Given the description of an element on the screen output the (x, y) to click on. 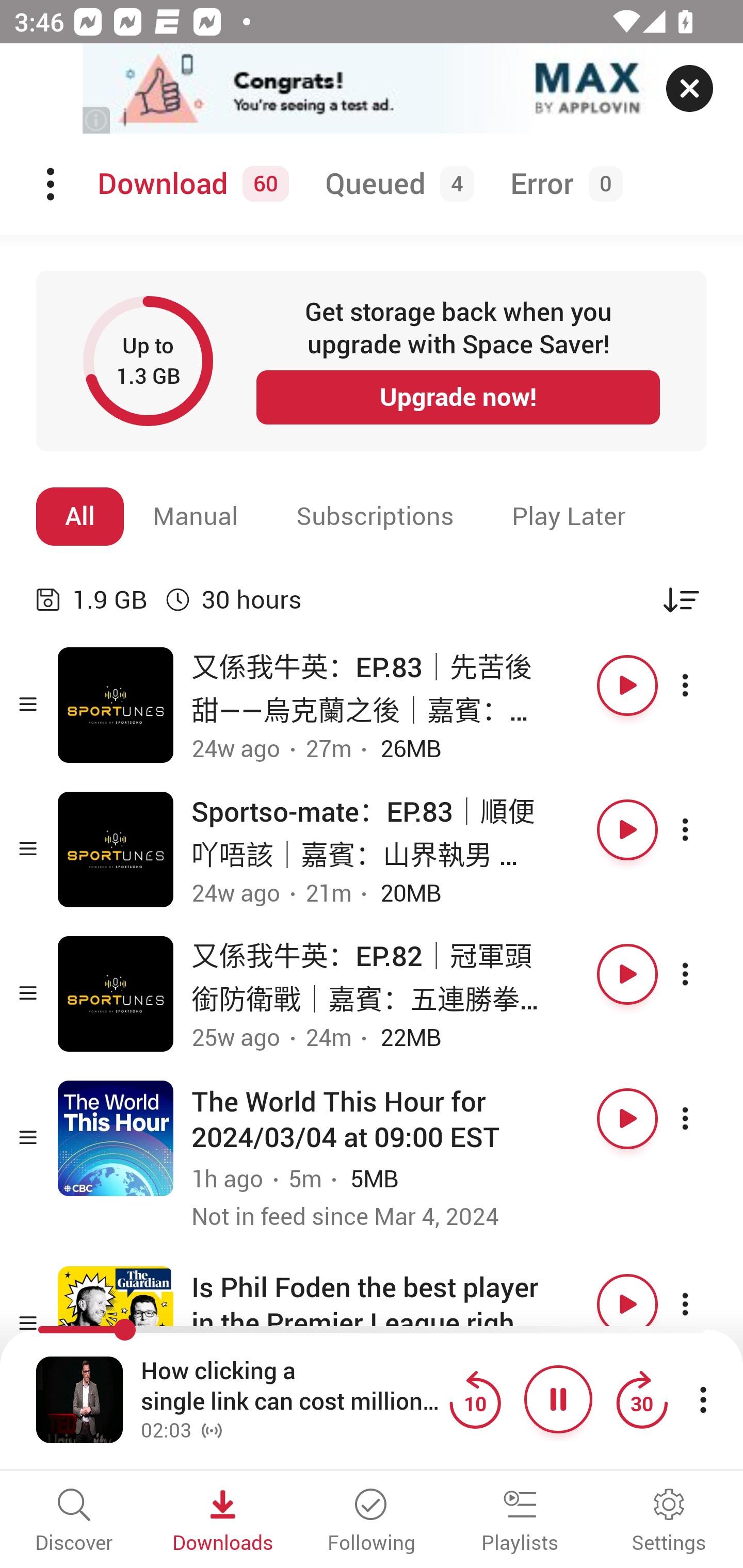
app-monetization (371, 88)
(i) (96, 119)
Menu (52, 184)
 Download 60 (189, 184)
 Queued 4 (396, 184)
 Error 0 (562, 184)
All (80, 516)
Manual (195, 516)
Subscriptions (374, 516)
Play Later (568, 516)
Change sort order (681, 599)
Play button (627, 685)
More options (703, 685)
Open series Sportunes HK (115, 705)
Play button (627, 830)
More options (703, 830)
Open series Sportunes HK (115, 849)
Play button (627, 974)
More options (703, 974)
Open series Sportunes HK (115, 994)
Play button (627, 1118)
More options (703, 1118)
Open series The World This Hour (115, 1138)
Play button (627, 1304)
More options (703, 1304)
Open series Football Weekly (115, 1323)
Open fullscreen player (79, 1399)
More player controls (703, 1399)
Pause button (558, 1398)
Jump back (475, 1399)
Jump forward (641, 1399)
Discover (74, 1521)
Downloads (222, 1521)
Following (371, 1521)
Playlists (519, 1521)
Settings (668, 1521)
